Given the description of an element on the screen output the (x, y) to click on. 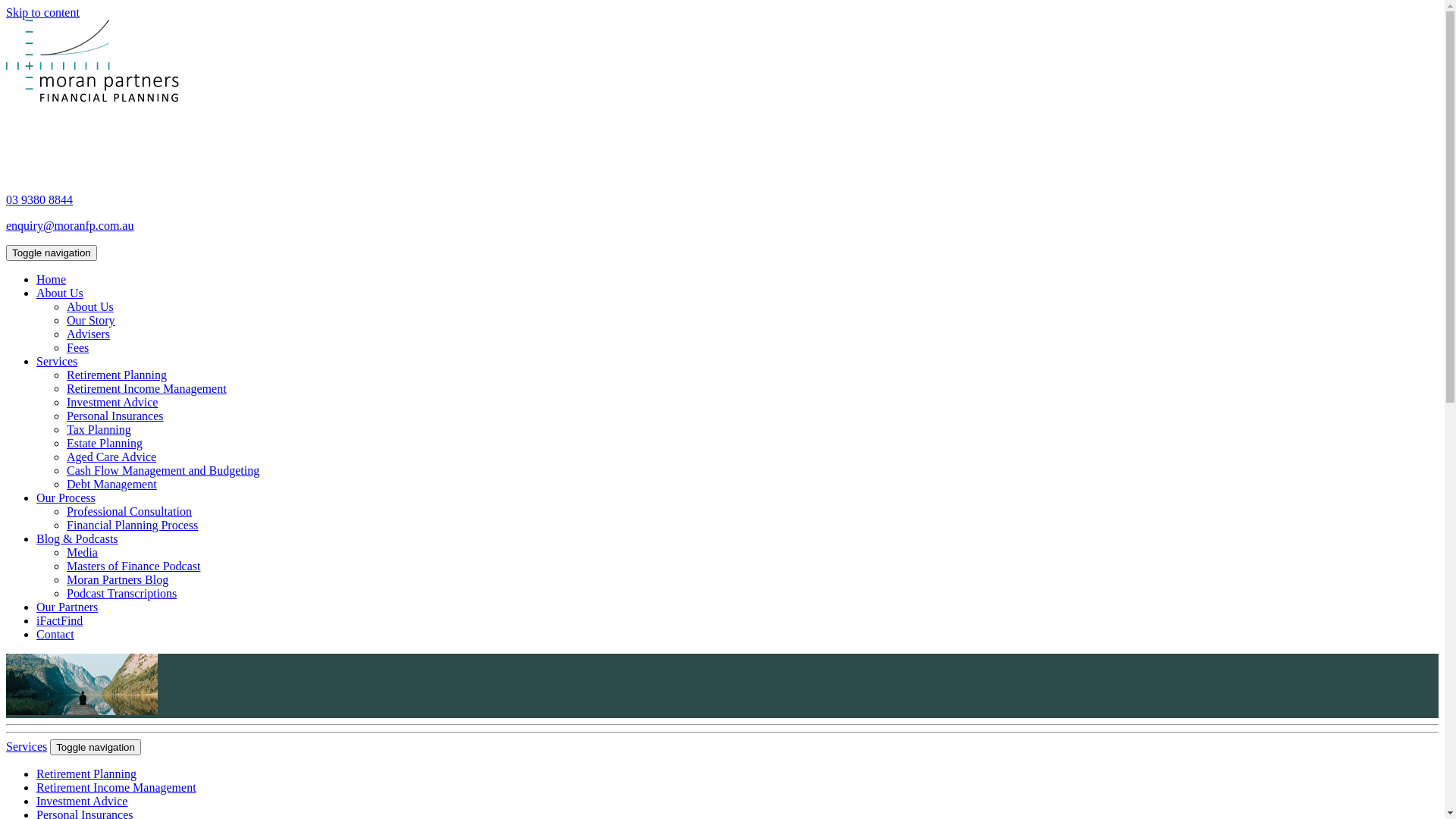
Personal Insurances Element type: text (114, 415)
Home Element type: text (50, 279)
Our Process Element type: text (65, 497)
Toggle navigation Element type: text (51, 252)
Toggle navigation Element type: text (95, 747)
Fees Element type: text (77, 347)
Retirement Income Management Element type: text (116, 787)
Retirement Income Management Element type: text (146, 388)
Masters of Finance Podcast Element type: text (133, 565)
Retirement Planning Element type: text (86, 773)
Our Story Element type: text (90, 319)
Aged Care Advice Element type: text (111, 456)
About Us Element type: text (59, 292)
Media Element type: text (81, 552)
Cash Flow Management and Budgeting Element type: text (162, 470)
Retirement Planning Element type: text (116, 374)
Contact Element type: text (55, 633)
03 9380 8844 Element type: text (39, 199)
Blog & Podcasts Element type: text (77, 538)
iFactFind Element type: text (59, 620)
Services Element type: text (26, 746)
Advisers Element type: text (87, 333)
Financial Planning Process Element type: text (131, 524)
Skip to content Element type: text (42, 12)
Debt Management Element type: text (111, 483)
Our Partners Element type: text (66, 606)
Professional Consultation Element type: text (128, 511)
Investment Advice Element type: text (111, 401)
Podcast Transcriptions Element type: text (121, 592)
Estate Planning Element type: text (104, 442)
About Us Element type: text (89, 306)
enquiry@moranfp.com.au Element type: text (69, 225)
Moran Partners Blog Element type: text (117, 579)
Tax Planning Element type: text (98, 429)
Investment Advice Element type: text (81, 800)
Services Element type: text (56, 360)
